Given the description of an element on the screen output the (x, y) to click on. 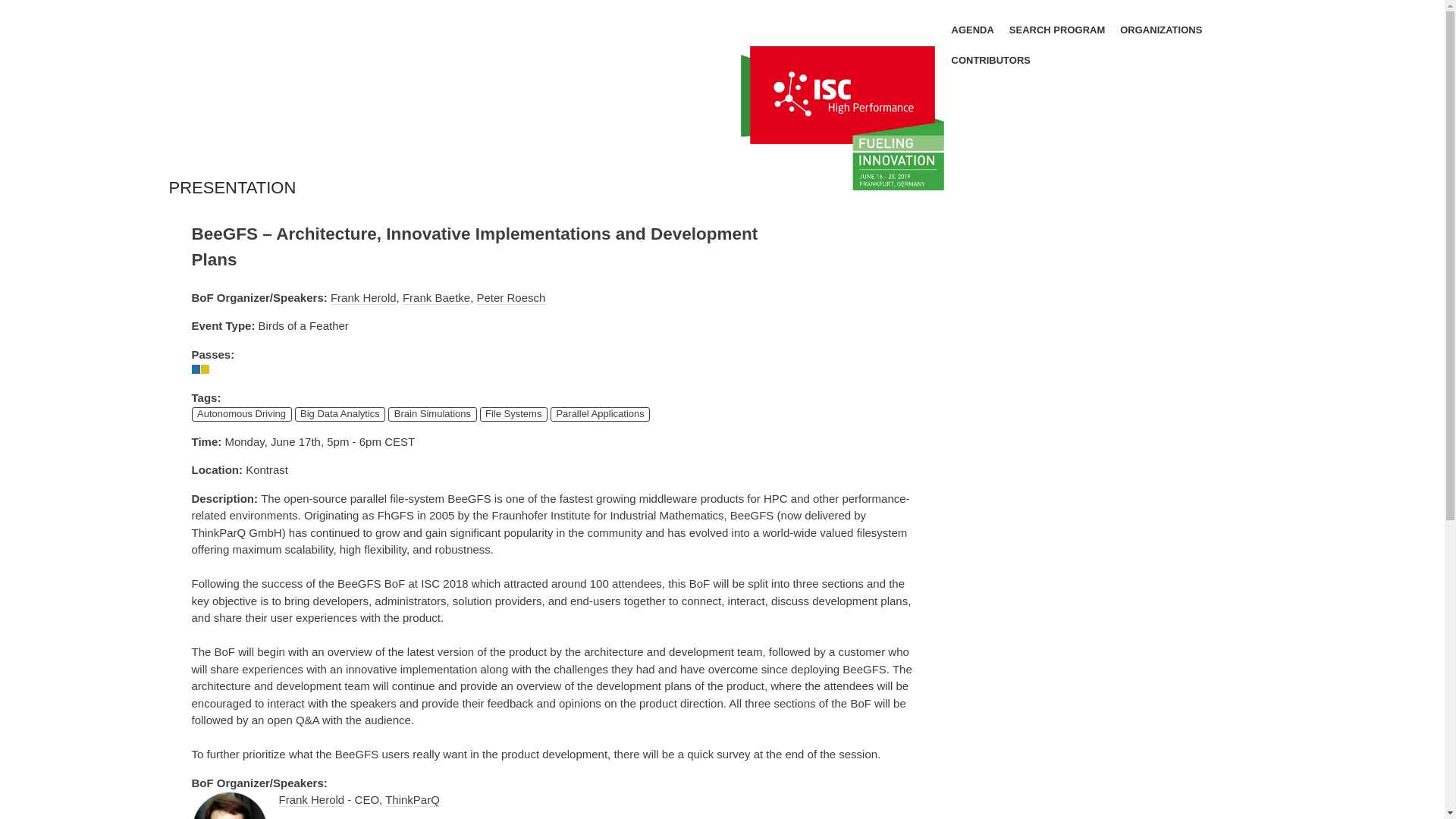
CONTRIBUTORS (989, 60)
SEARCH PROGRAM (1057, 30)
Frank Baetke (436, 297)
ThinkParQ (412, 799)
Exhibition Pass (204, 368)
Conference Pass (195, 368)
ORGANIZATIONS (1160, 30)
Frank Herold (312, 799)
Frank Herold (363, 297)
AGENDA (971, 30)
